Given the description of an element on the screen output the (x, y) to click on. 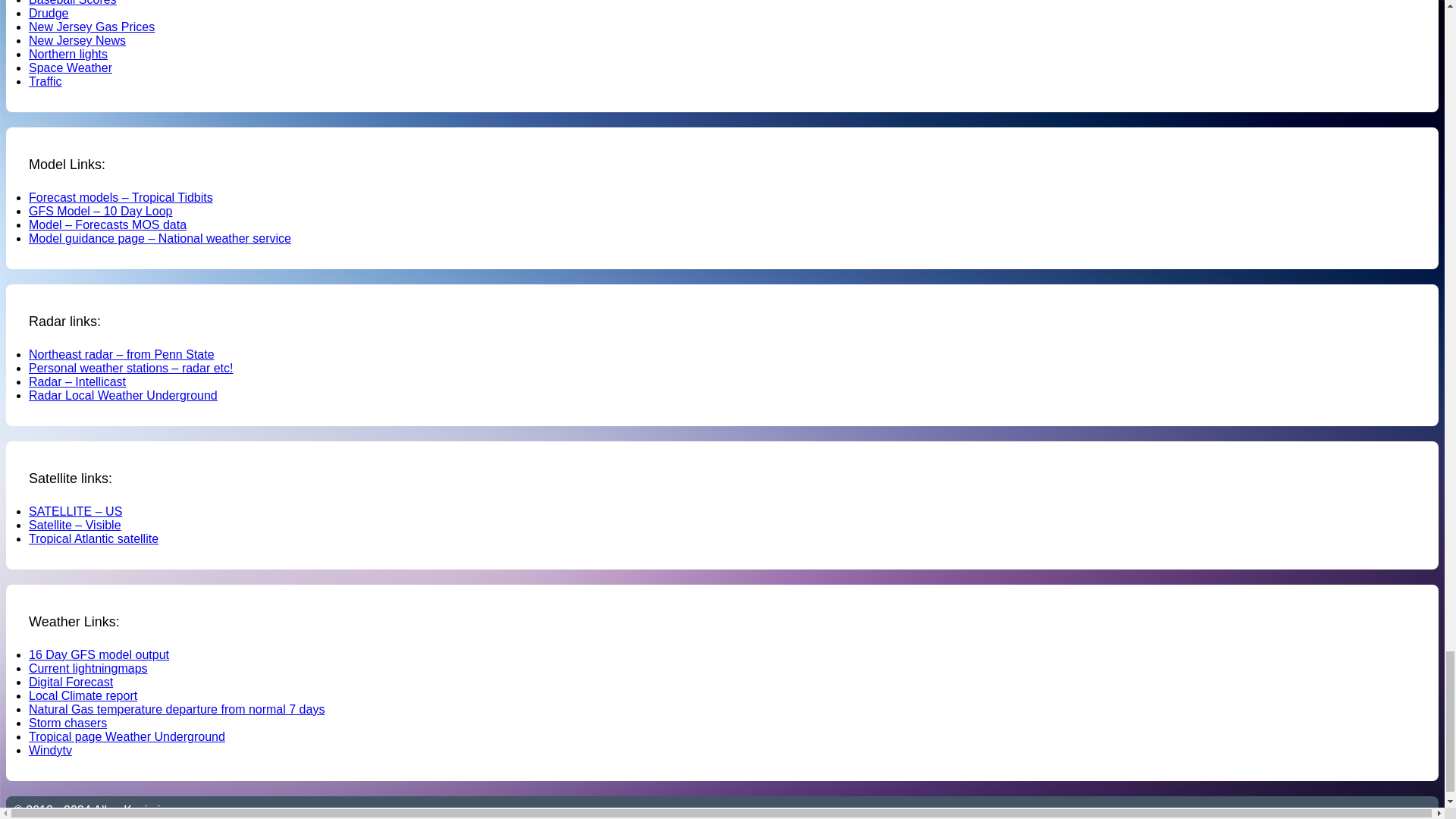
Great model site! (120, 196)
Cool worldwide weather systems. (50, 749)
